Given the description of an element on the screen output the (x, y) to click on. 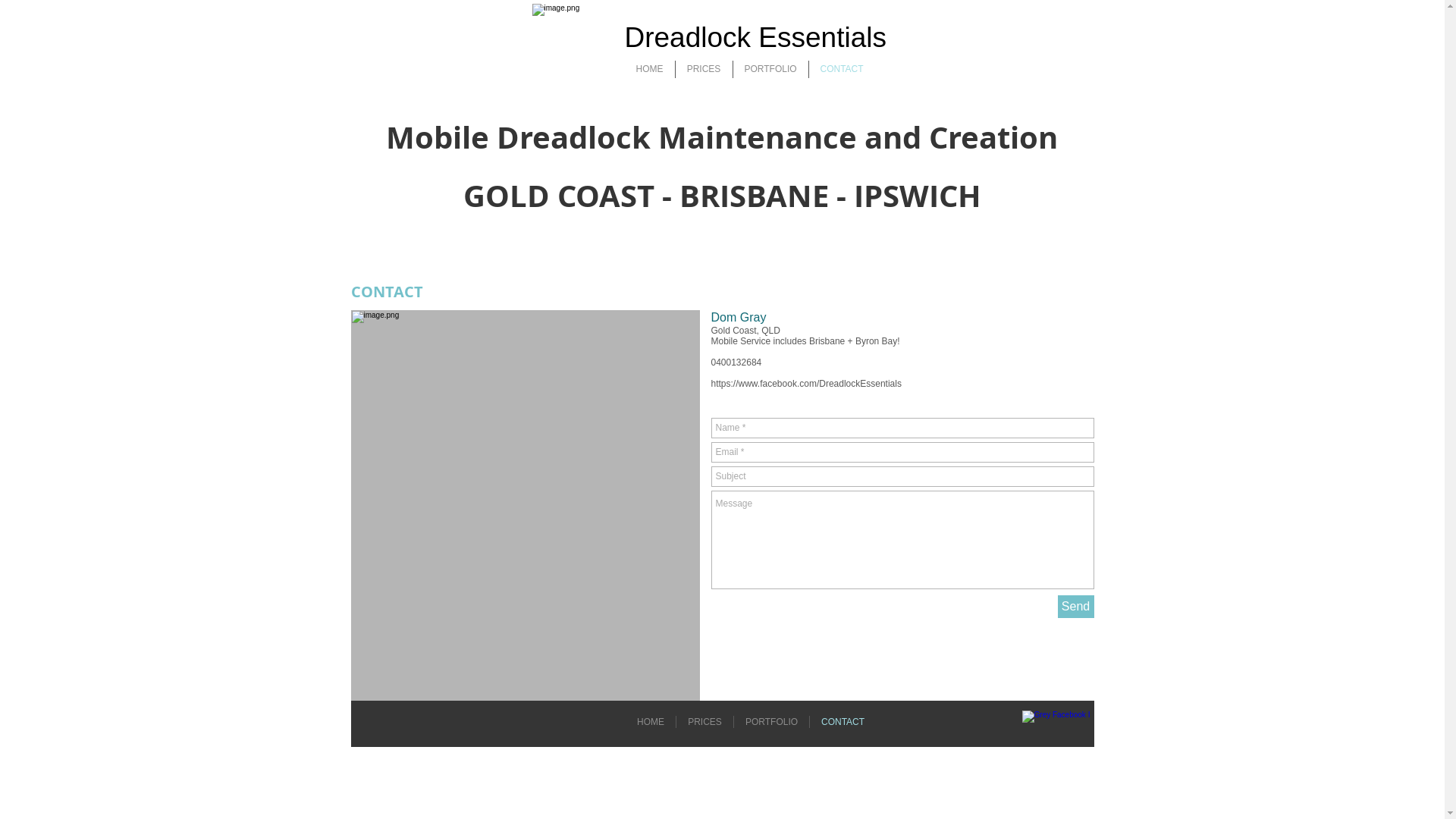
HOME Element type: text (650, 721)
PORTFOLIO Element type: text (771, 721)
PORTFOLIO Element type: text (769, 69)
PRICES Element type: text (704, 721)
PRICES Element type: text (702, 69)
Dreadlock Essentials Element type: text (755, 37)
Send Element type: text (1075, 606)
HOME Element type: text (649, 69)
CONTACT Element type: text (841, 69)
https://www.facebook.com/DreadlockEssentials Element type: text (806, 383)
CONTACT Element type: text (842, 721)
